Given the description of an element on the screen output the (x, y) to click on. 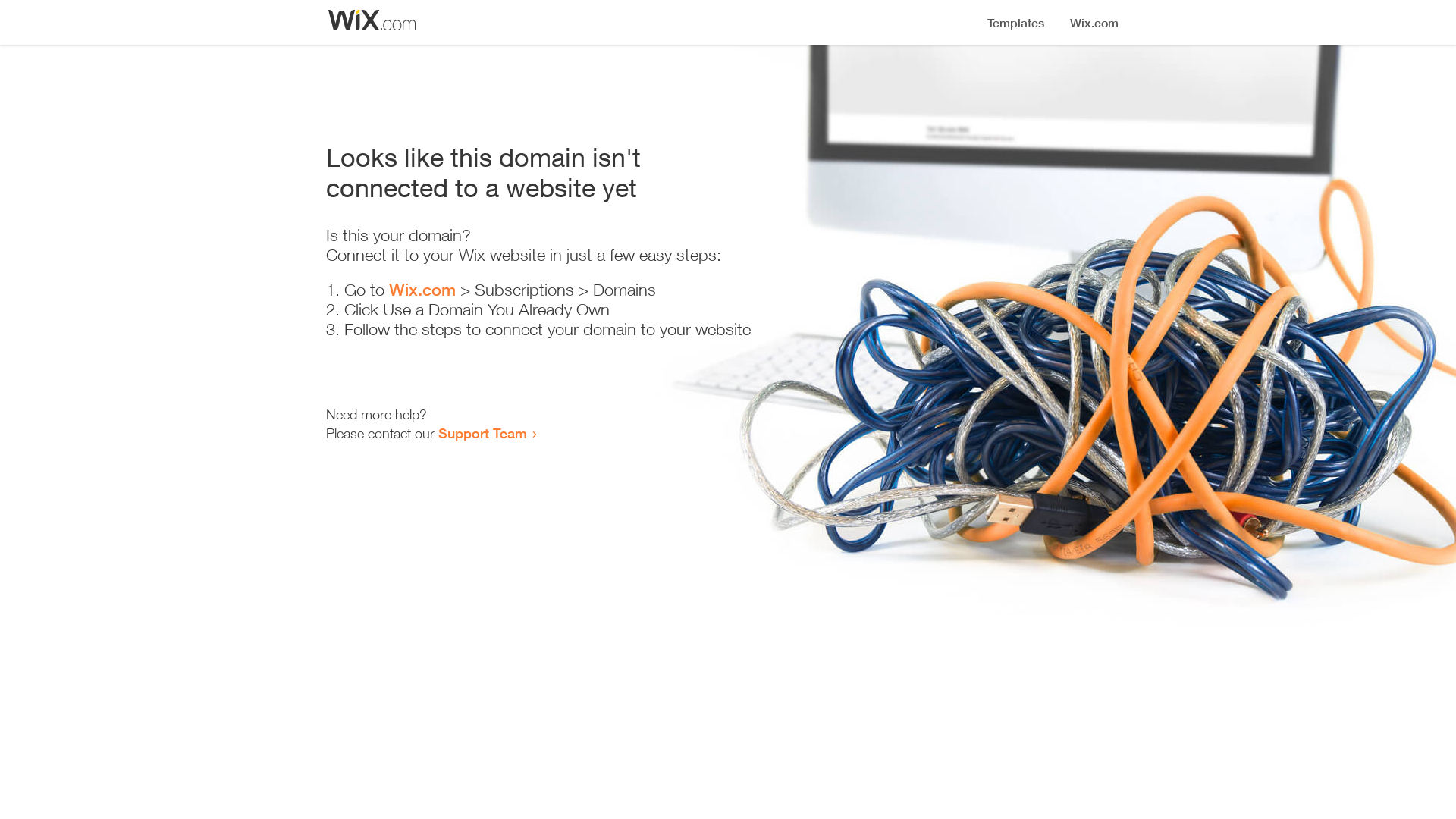
Support Team Element type: text (482, 432)
Wix.com Element type: text (422, 289)
